Given the description of an element on the screen output the (x, y) to click on. 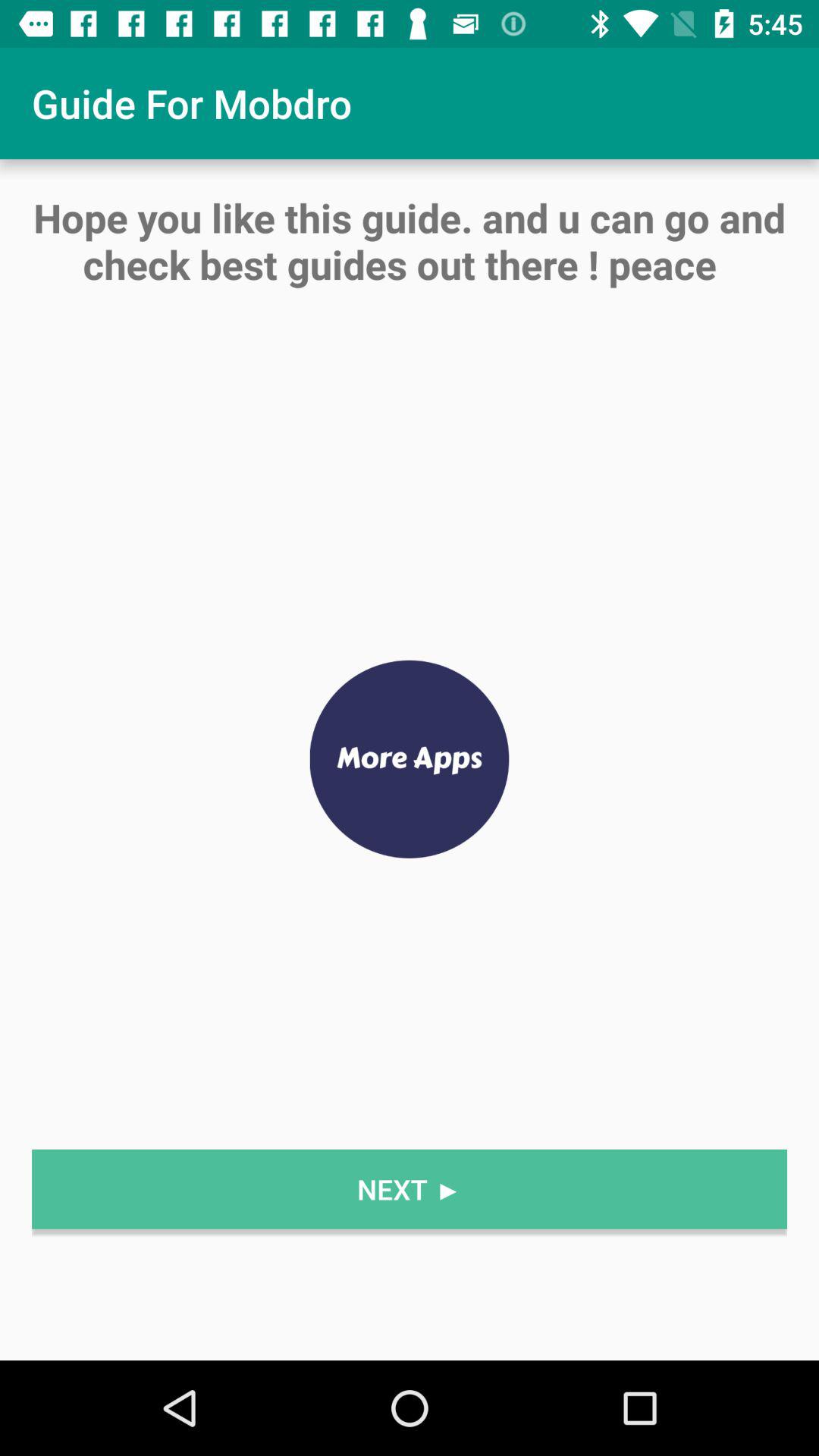
open item below hope you like item (409, 759)
